Given the description of an element on the screen output the (x, y) to click on. 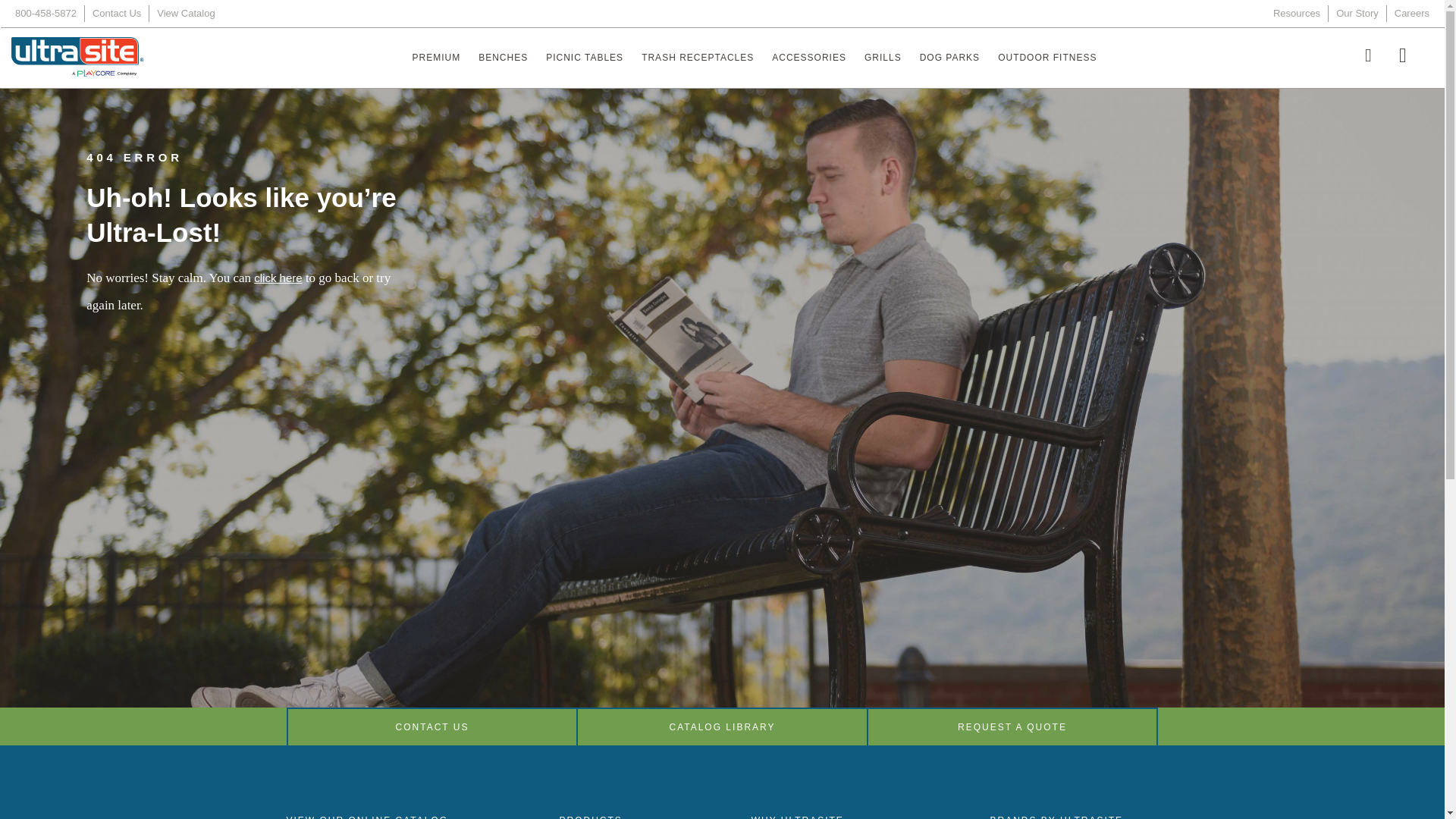
BENCHES (502, 57)
OUTDOOR FITNESS (1046, 57)
Resources (1296, 13)
click here (277, 277)
CATALOG LIBRARY (721, 726)
TRASH RECEPTACLES (696, 57)
GRILLS (883, 57)
ACCESSORIES (809, 57)
CONTACT US (431, 726)
PREMIUM (436, 57)
